Given the description of an element on the screen output the (x, y) to click on. 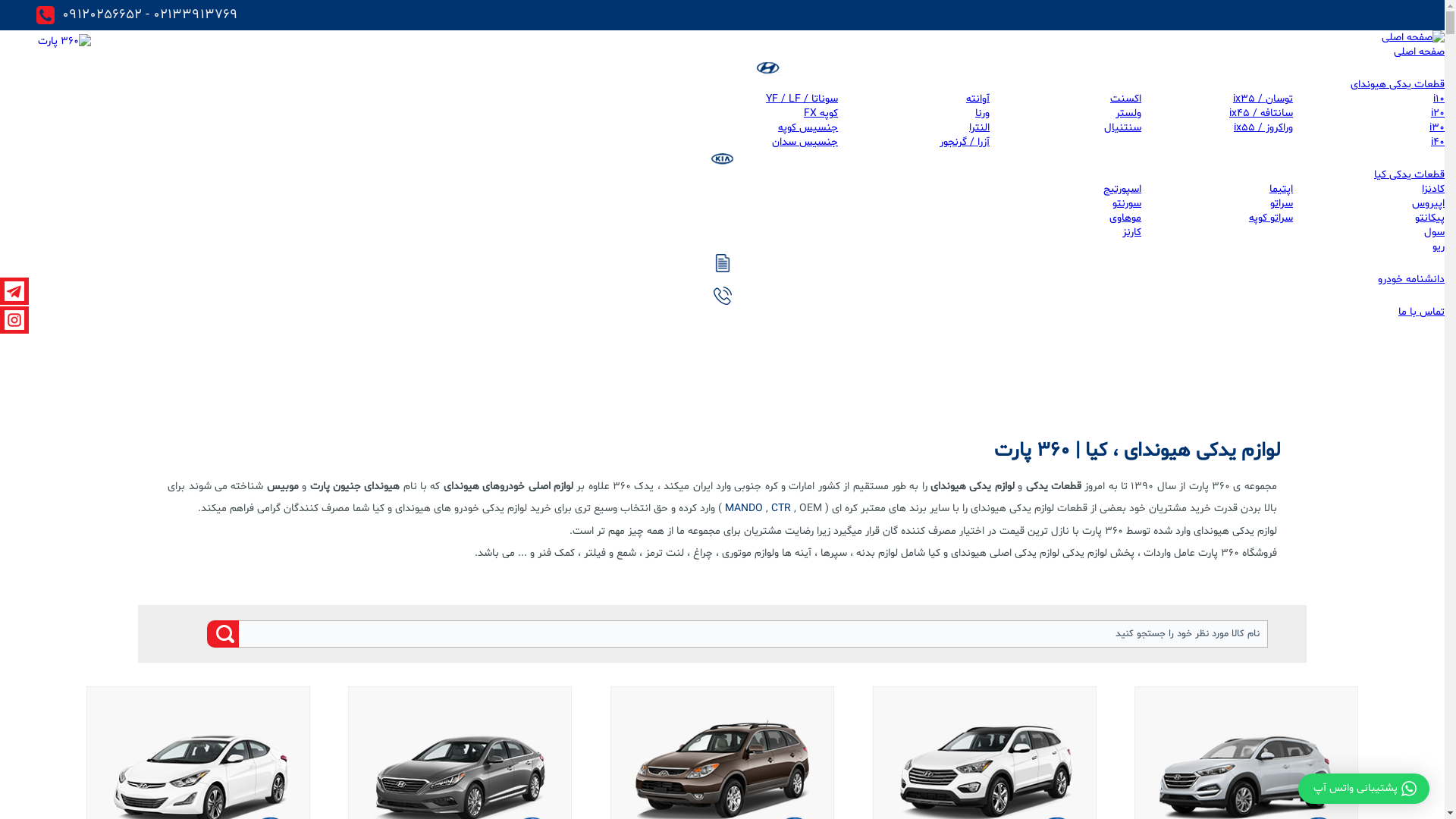
i40 Element type: text (1437, 141)
i30 Element type: text (1436, 127)
MANDO Element type: text (743, 508)
CTR Element type: text (780, 508)
i20 Element type: text (1437, 113)
  Element type: text (222, 633)
i10 Element type: text (1438, 98)
